Given the description of an element on the screen output the (x, y) to click on. 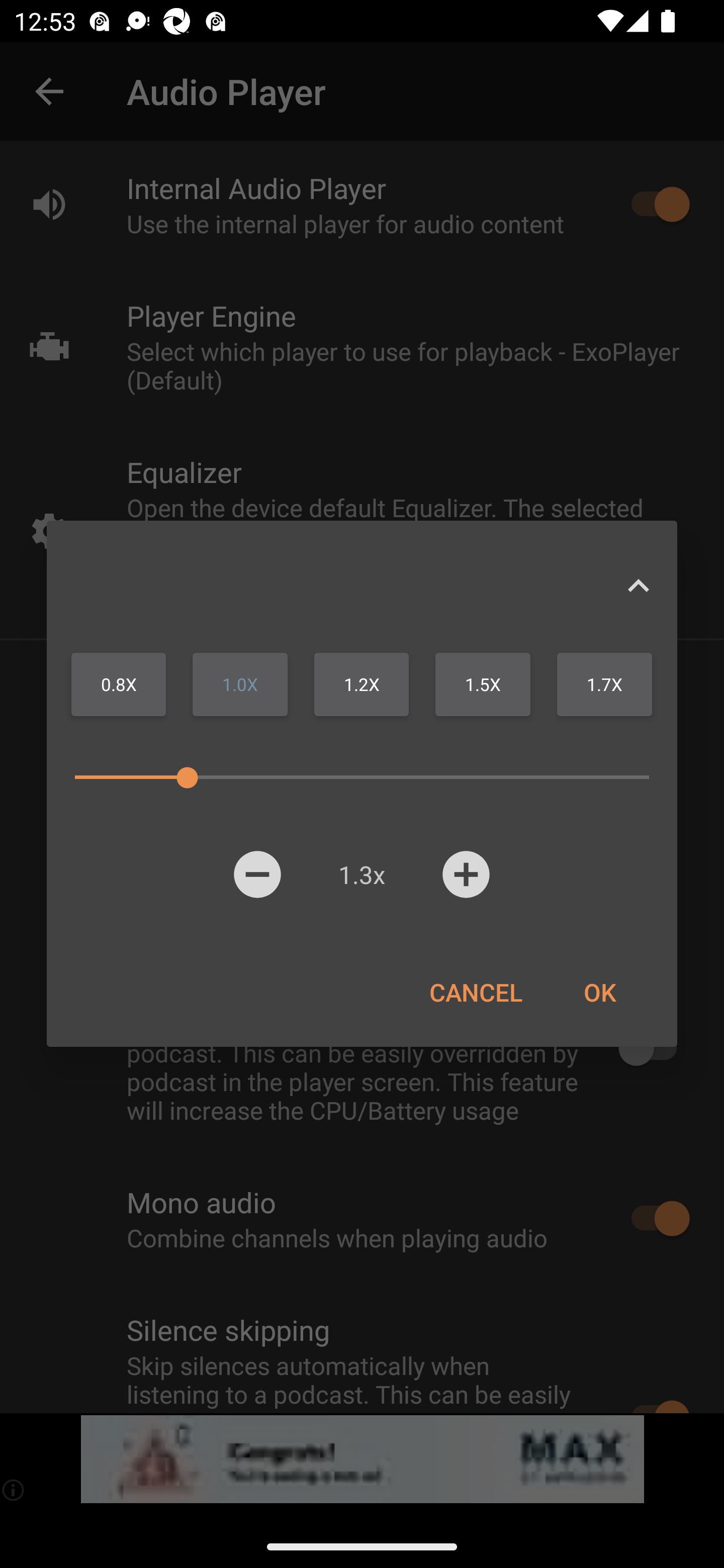
Expand (637, 585)
0.8X (118, 683)
1.0X (239, 683)
1.2X (360, 683)
1.5X (482, 683)
1.7X (604, 683)
1.3x (361, 873)
CANCEL (475, 992)
OK (599, 992)
